Given the description of an element on the screen output the (x, y) to click on. 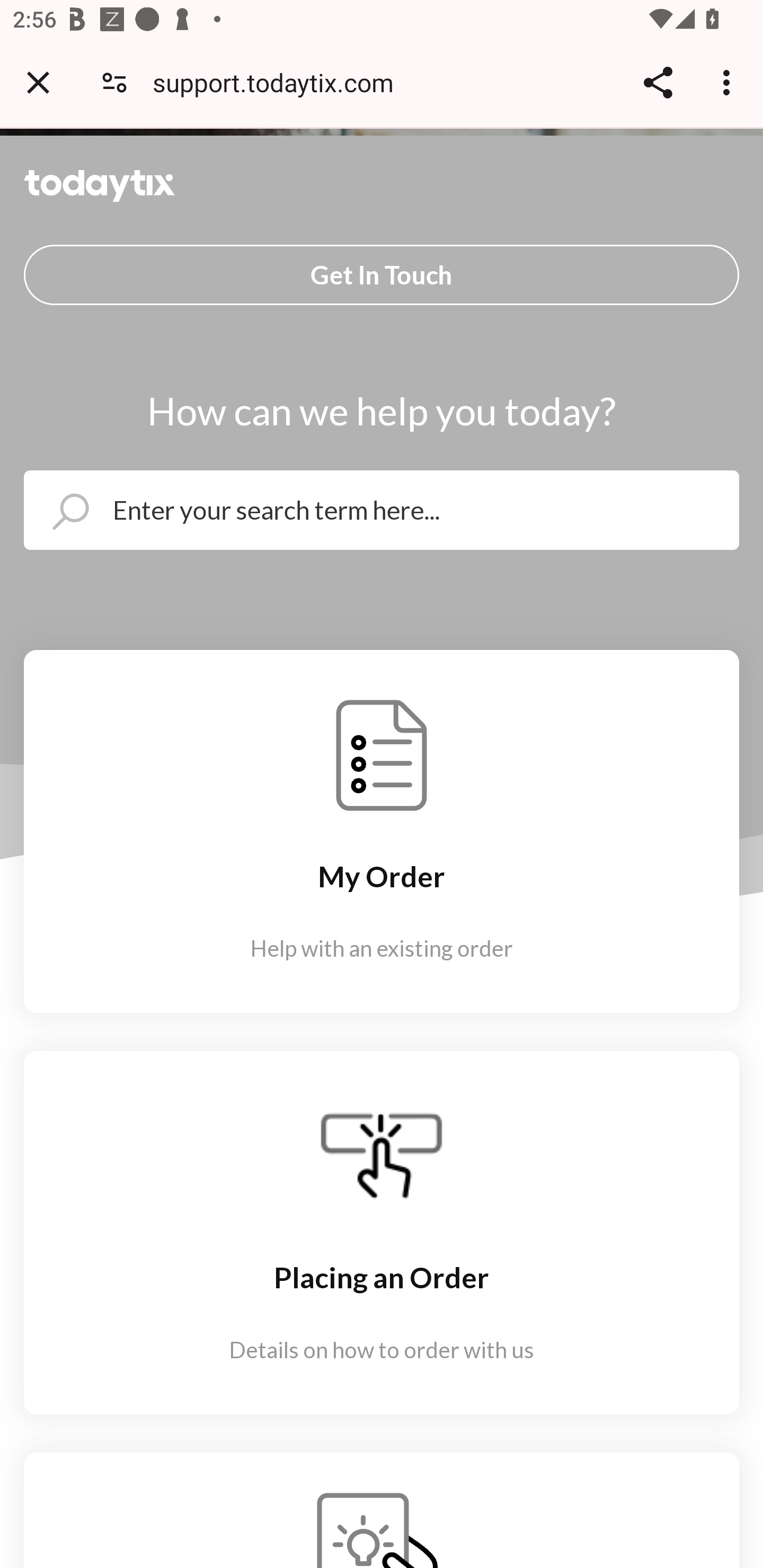
Close tab (38, 82)
Share (657, 82)
Customize and control Google Chrome (729, 82)
Connection is secure (114, 81)
support.todaytix.com (279, 81)
TodayTix White Logo (99, 185)
Get In Touch (381, 274)
Coronavirus Vouchers Redeem your credit (381, 1509)
